Given the description of an element on the screen output the (x, y) to click on. 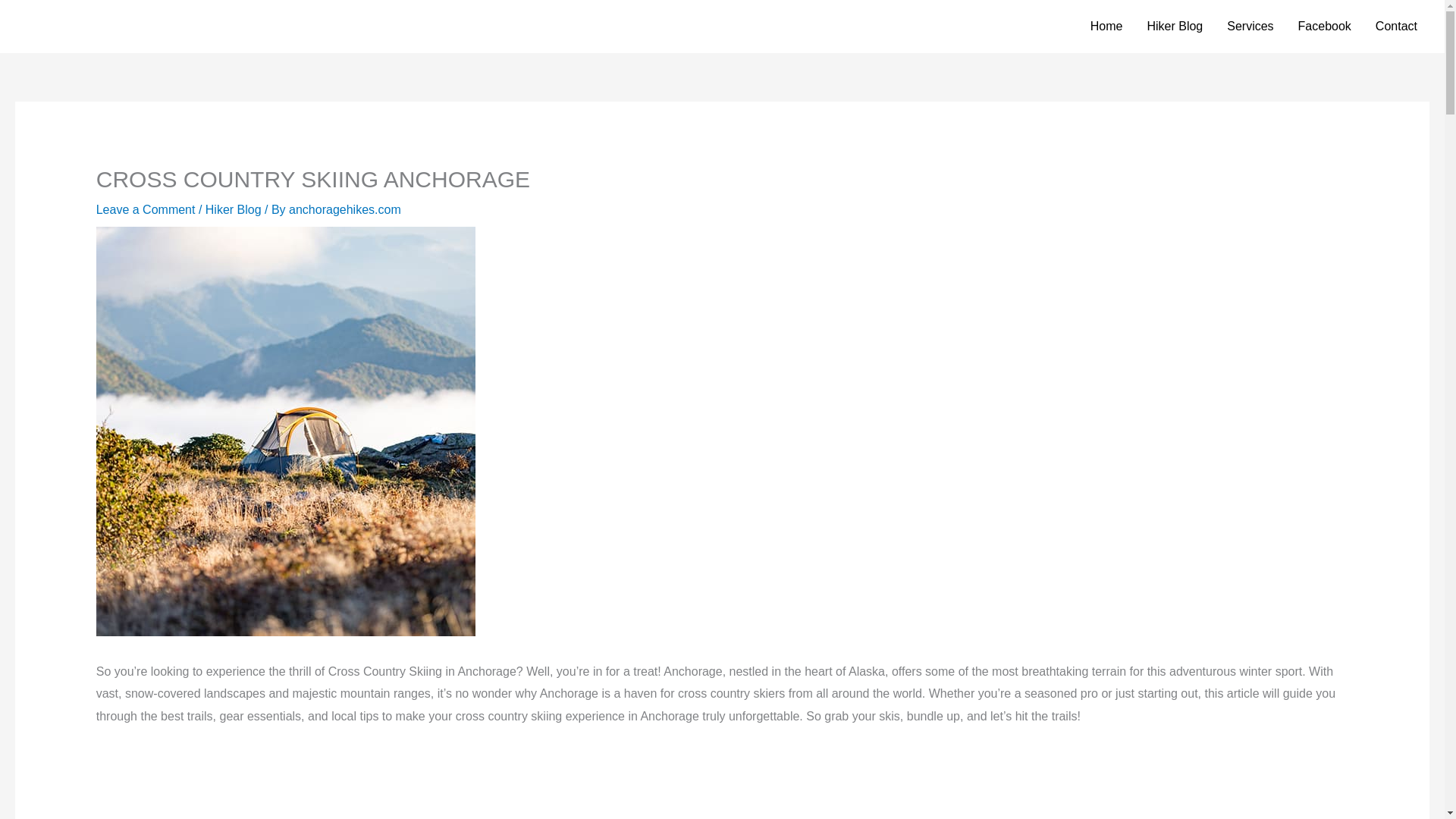
Hiker Blog (1174, 26)
Services (1249, 26)
Leave a Comment (145, 209)
Contact (1395, 26)
Facebook (1323, 26)
anchoragehikes.com (344, 209)
Hiker Blog (233, 209)
View all posts by anchoragehikes.com (344, 209)
Home (1106, 26)
